Given the description of an element on the screen output the (x, y) to click on. 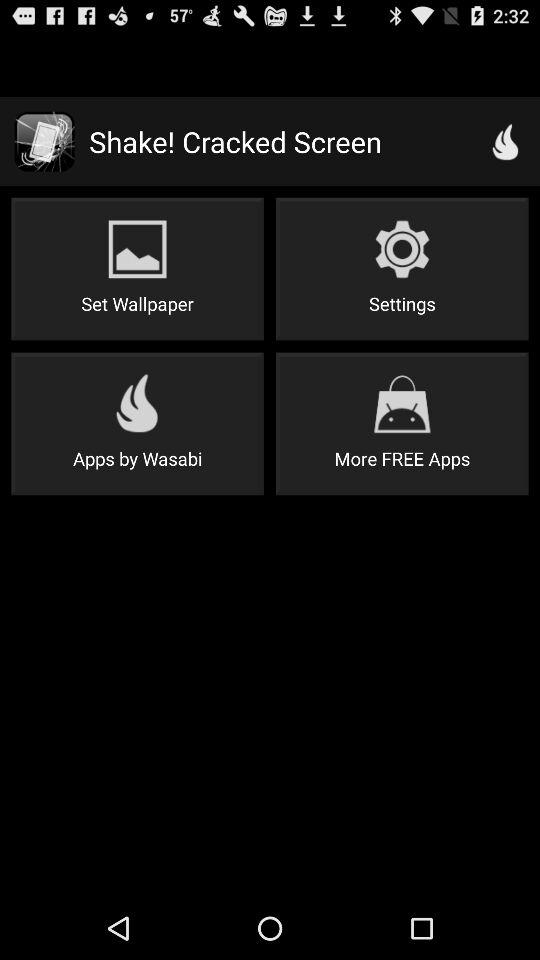
tap the icon below shake! cracked screen app (137, 268)
